Given the description of an element on the screen output the (x, y) to click on. 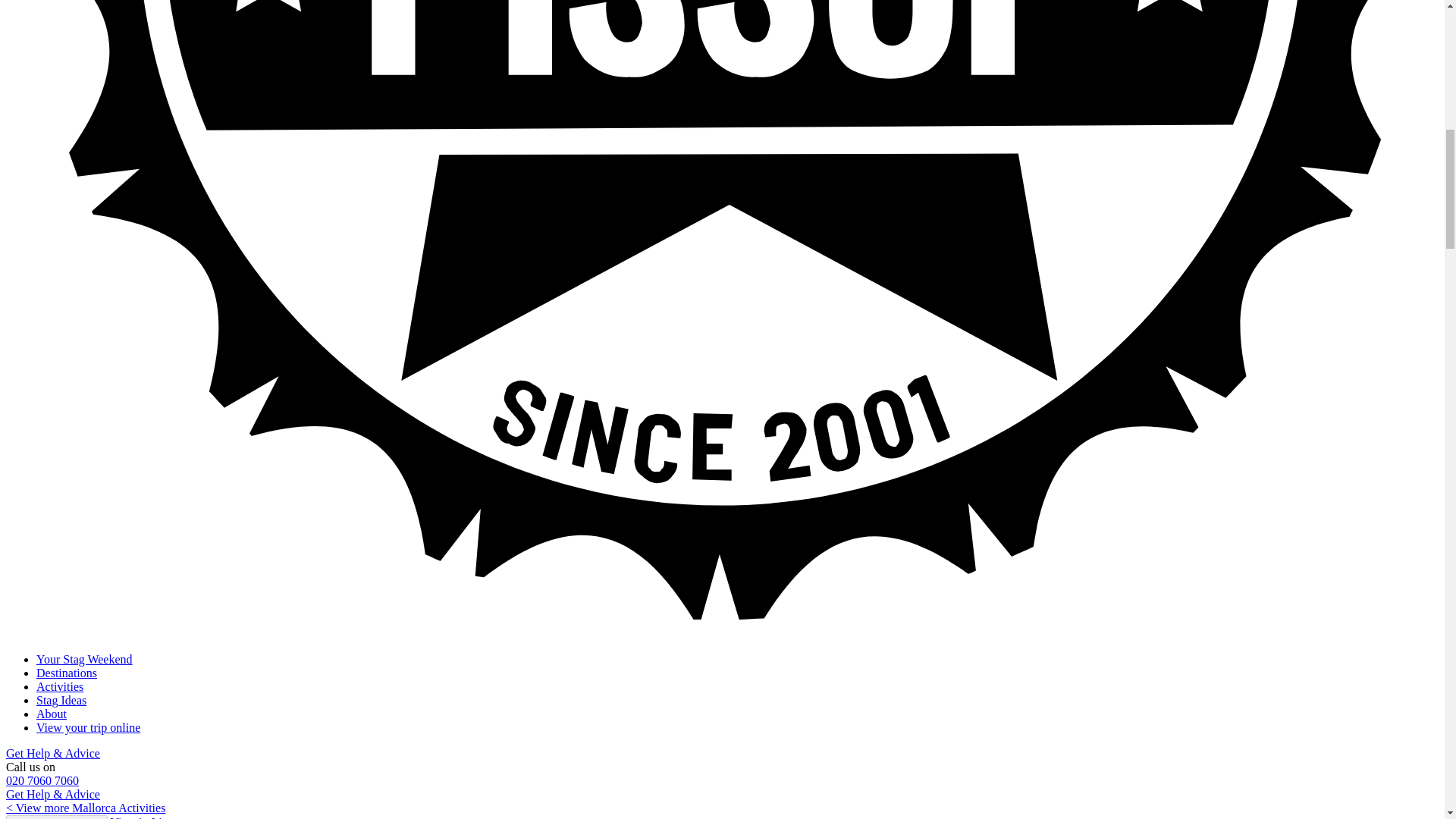
View in Itinerary (151, 817)
Destinations (66, 672)
View your trip online (87, 727)
020 7060 7060 (41, 780)
Your Stag Weekend (84, 658)
About (51, 713)
Stag Ideas (60, 699)
Add Activity To Stag (56, 816)
Activities (59, 686)
